Given the description of an element on the screen output the (x, y) to click on. 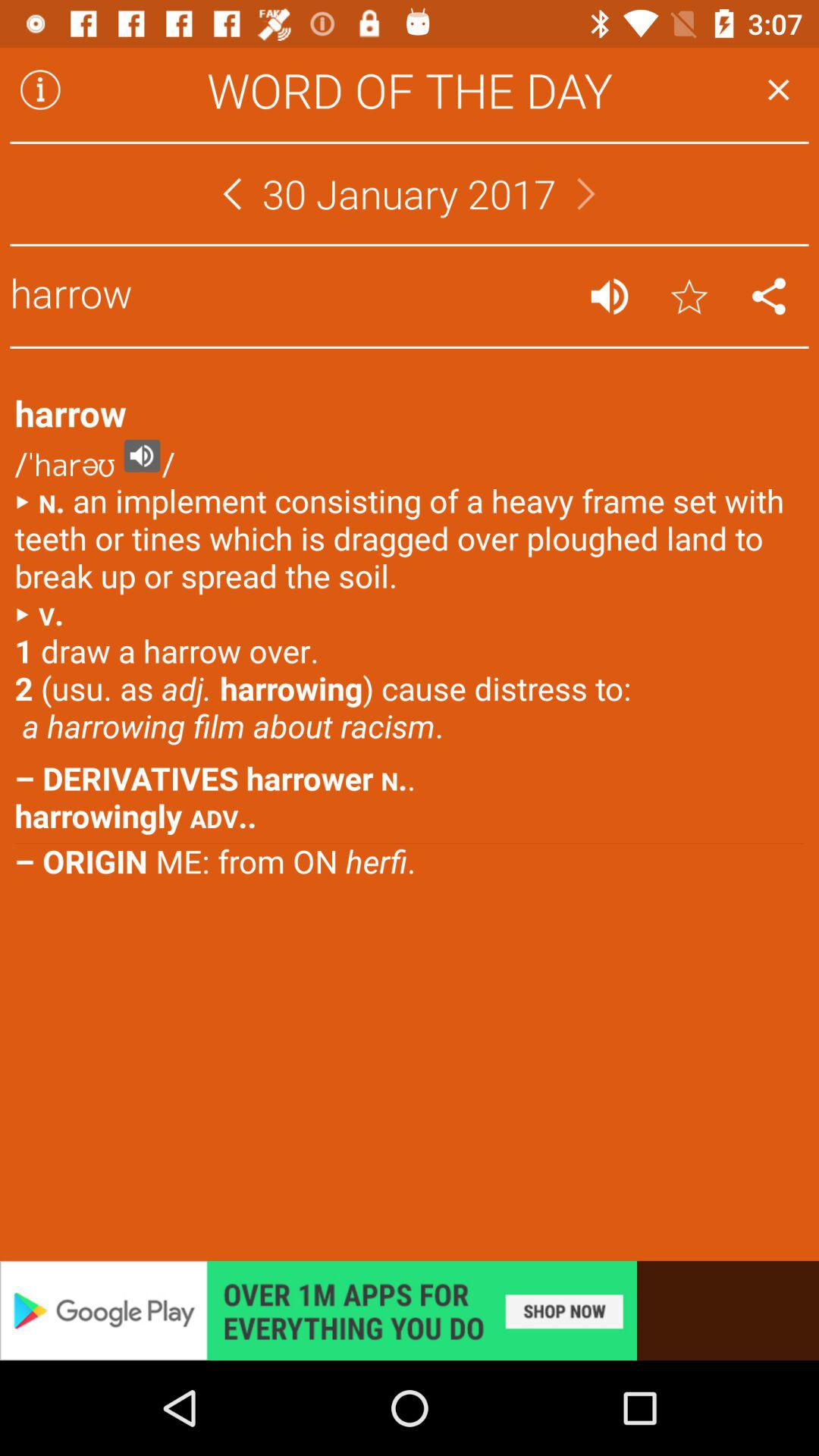
select the sound button (609, 296)
